Given the description of an element on the screen output the (x, y) to click on. 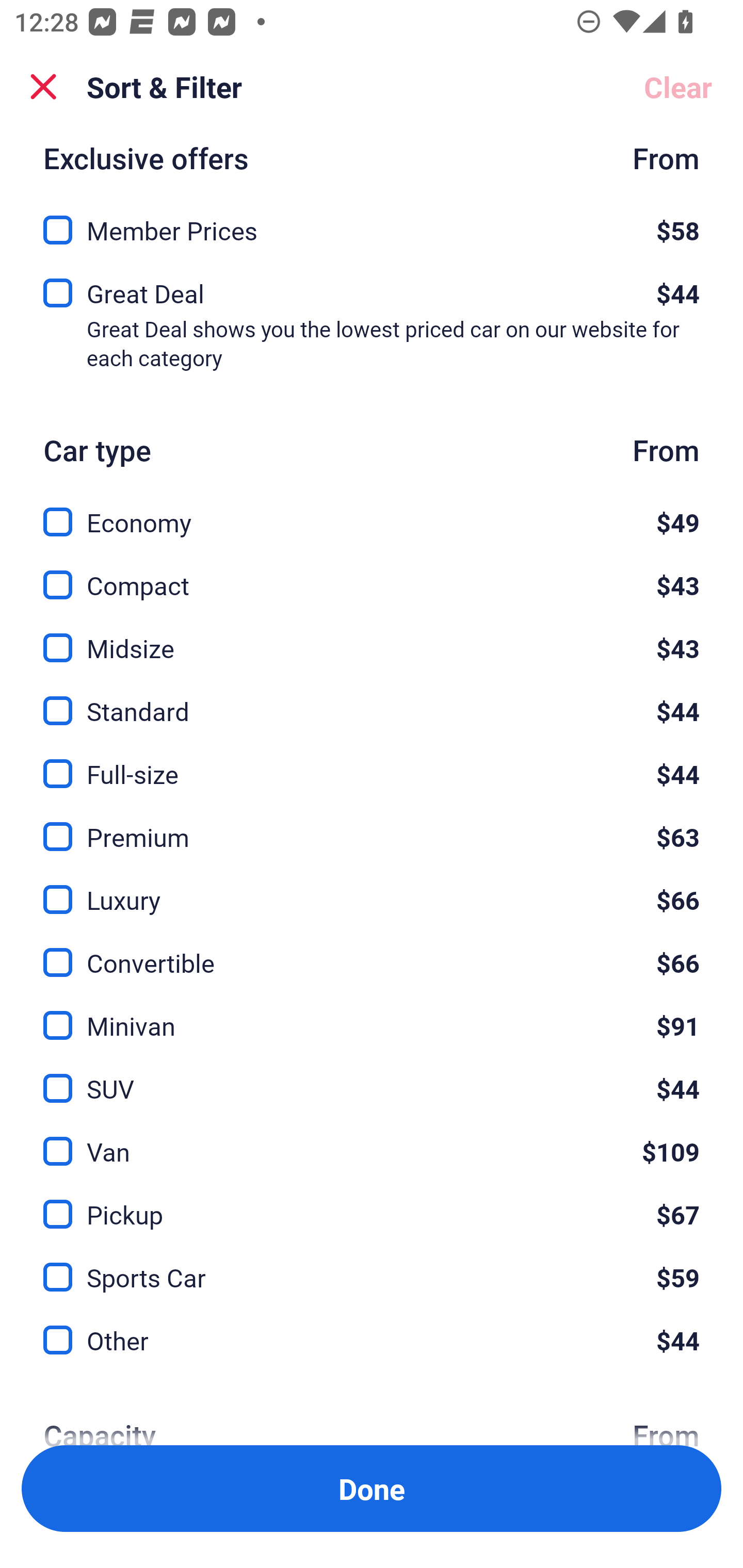
Close Sort and Filter (43, 86)
Clear (677, 86)
Member Prices, $58 Member Prices $58 (371, 223)
Economy, $49 Economy $49 (371, 510)
Compact, $43 Compact $43 (371, 573)
Midsize, $43 Midsize $43 (371, 636)
Standard, $44 Standard $44 (371, 698)
Full-size, $44 Full-size $44 (371, 761)
Premium, $63 Premium $63 (371, 824)
Luxury, $66 Luxury $66 (371, 888)
Convertible, $66 Convertible $66 (371, 951)
Minivan, $91 Minivan $91 (371, 1014)
SUV, $44 SUV $44 (371, 1076)
Van, $109 Van $109 (371, 1139)
Pickup, $67 Pickup $67 (371, 1202)
Sports Car, $59 Sports Car $59 (371, 1265)
Other, $44 Other $44 (371, 1340)
Apply and close Sort and Filter Done (371, 1488)
